Given the description of an element on the screen output the (x, y) to click on. 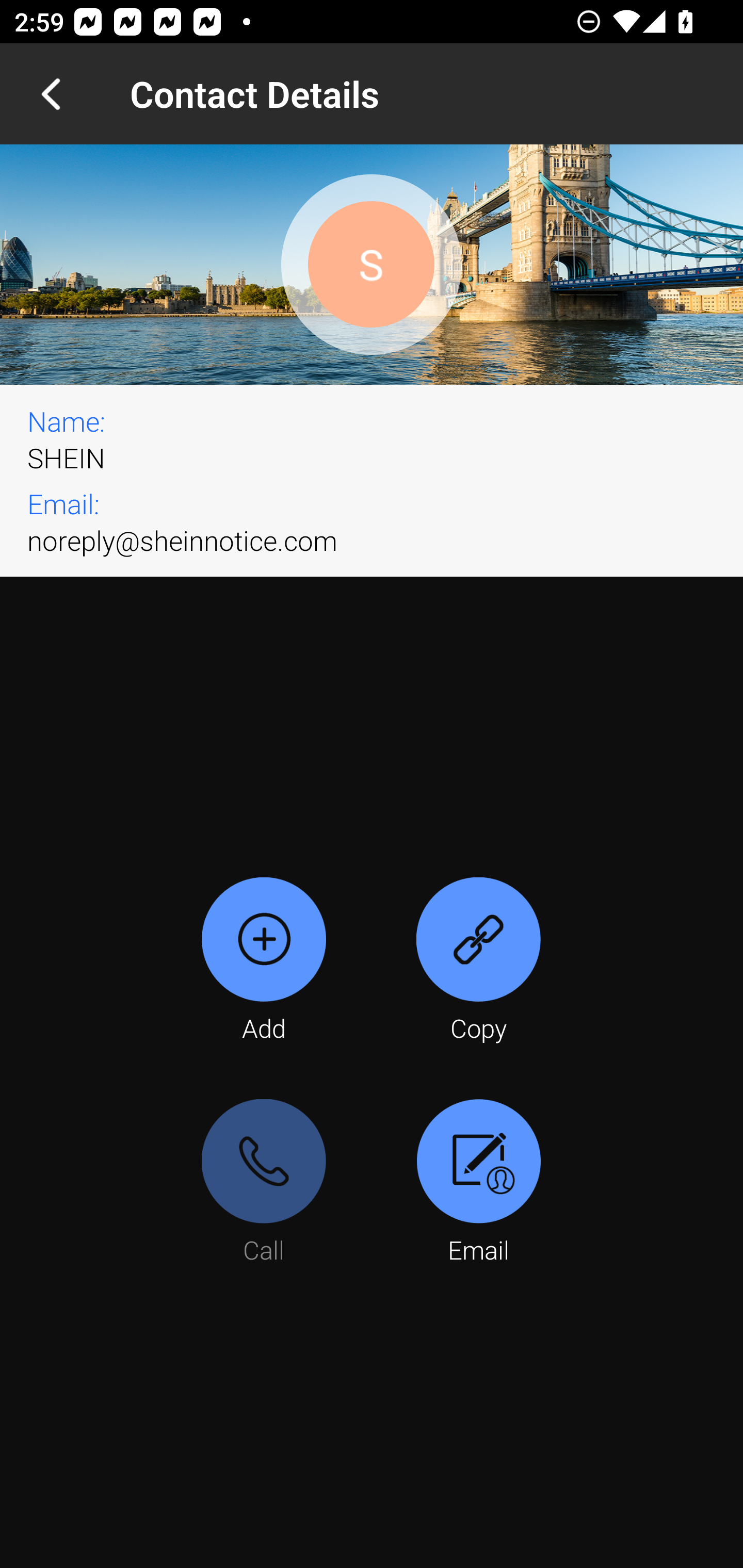
Navigate up (50, 93)
Add (264, 961)
Copy (478, 961)
Call (264, 1182)
Email (478, 1182)
